Given the description of an element on the screen output the (x, y) to click on. 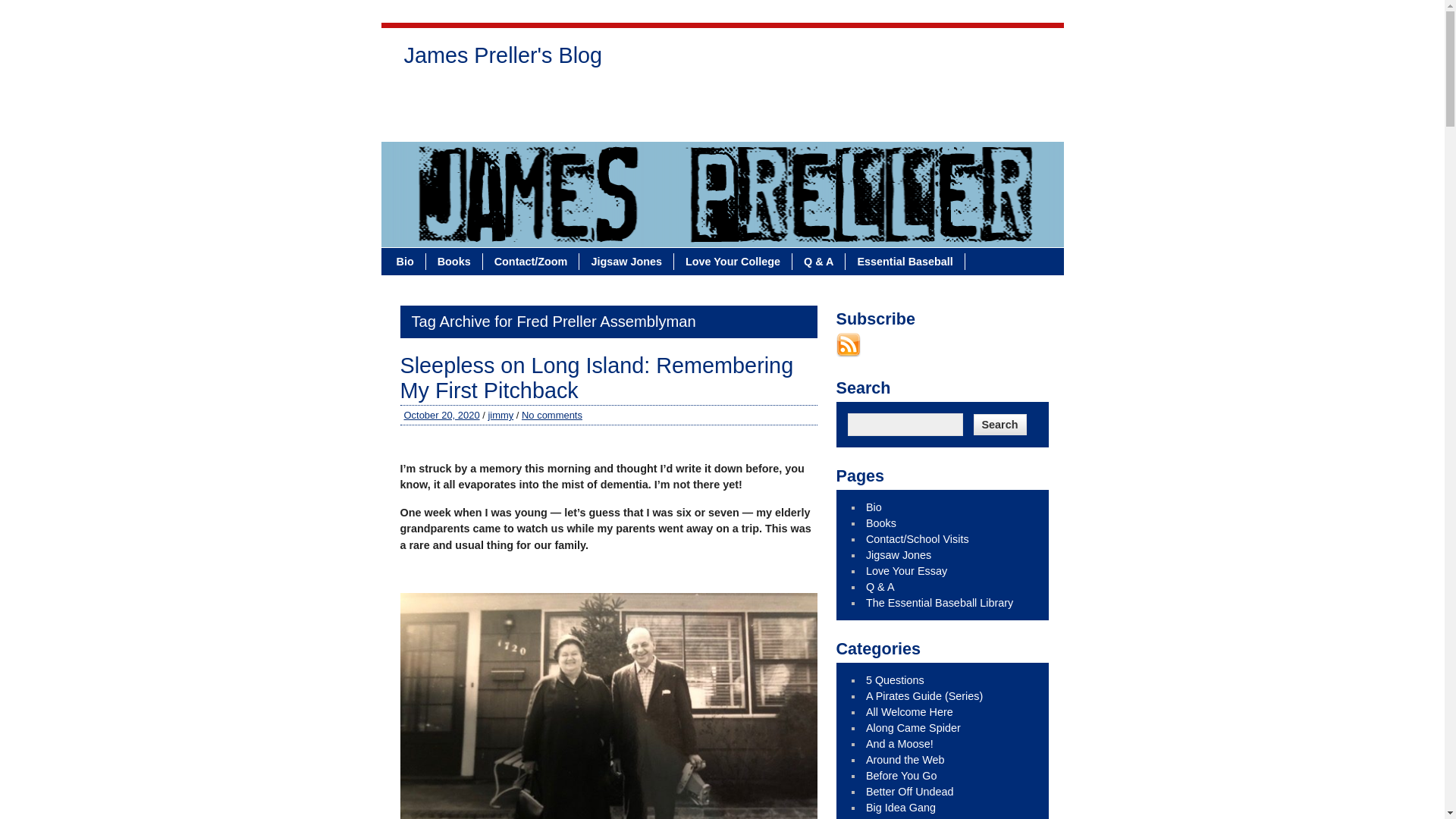
No comments (551, 414)
Posts by jimmy (500, 414)
Books (454, 261)
jimmy (500, 414)
Search (1000, 424)
Bio (405, 261)
James Preller's Blog (503, 59)
Jigsaw Jones (680, 96)
Sleepless on Long Island: Remembering My First Pitchback (596, 377)
My upcoming Young Adult Novel, Spring 2012 (901, 775)
